Given the description of an element on the screen output the (x, y) to click on. 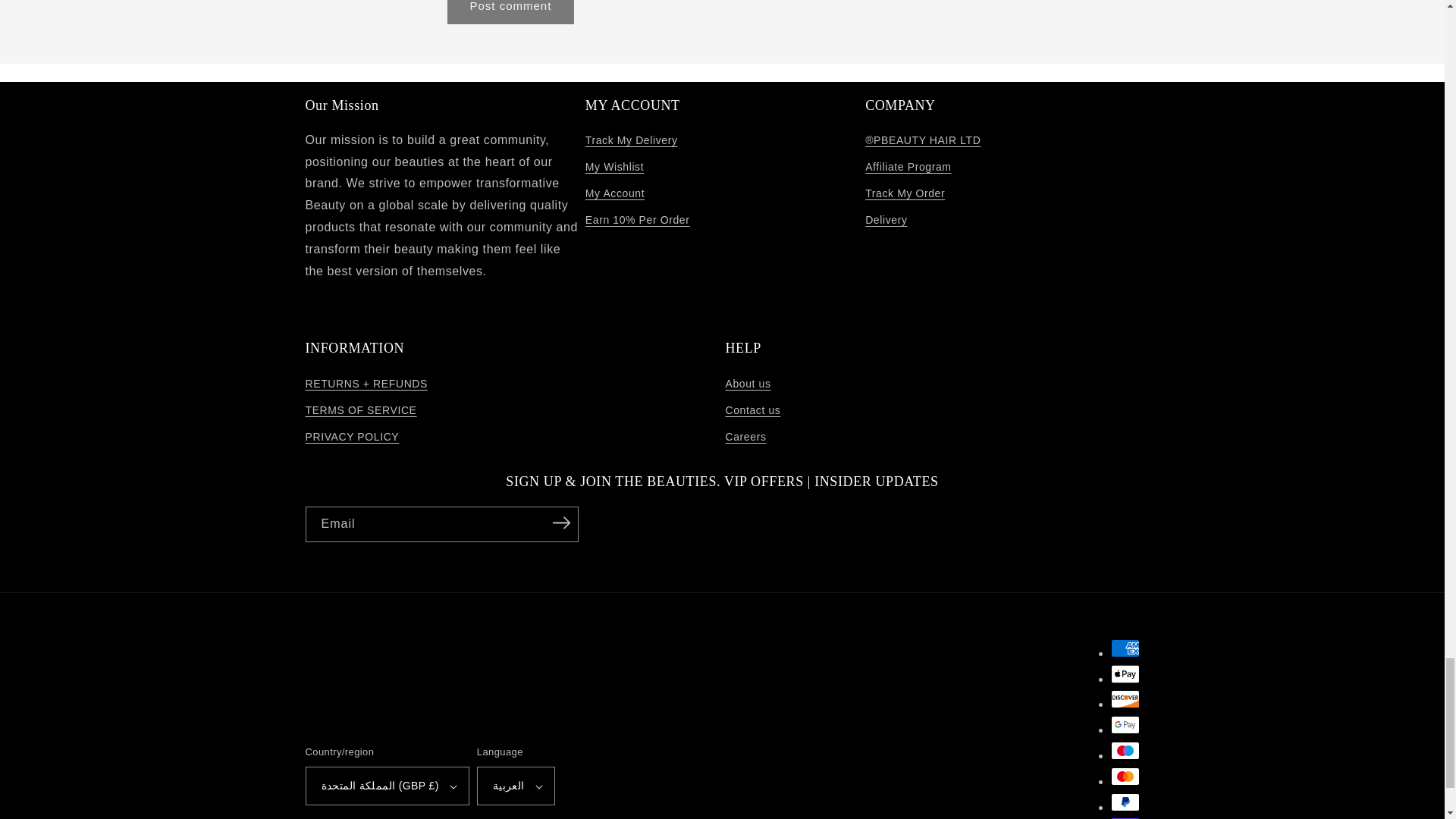
Post comment (510, 11)
Apple Pay (1123, 674)
Maestro (1123, 751)
PayPal (1123, 802)
American Express (1123, 648)
Discover (1123, 699)
Google Pay (1123, 724)
Mastercard (1123, 776)
